Given the description of an element on the screen output the (x, y) to click on. 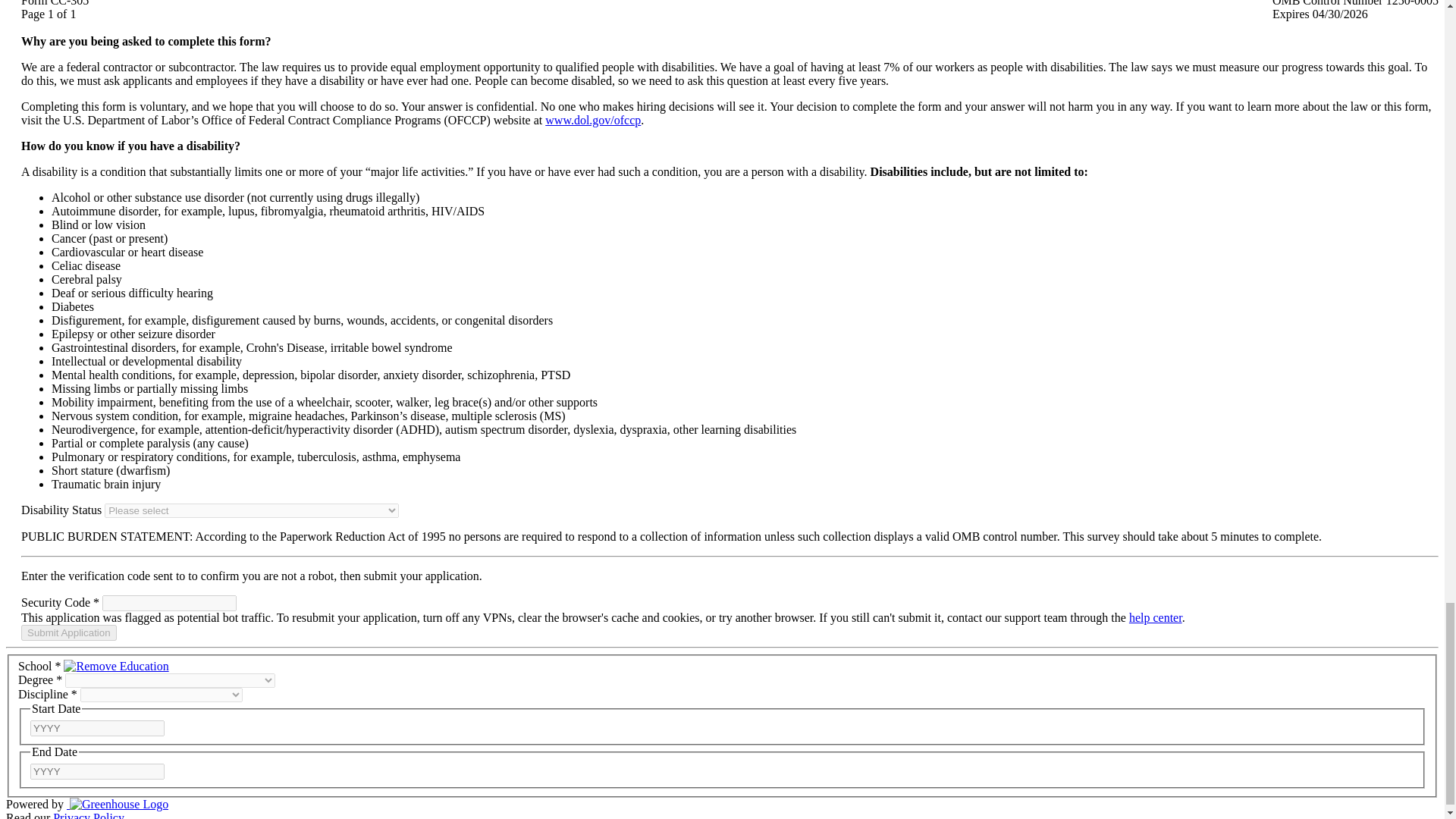
help center (1155, 617)
